Given the description of an element on the screen output the (x, y) to click on. 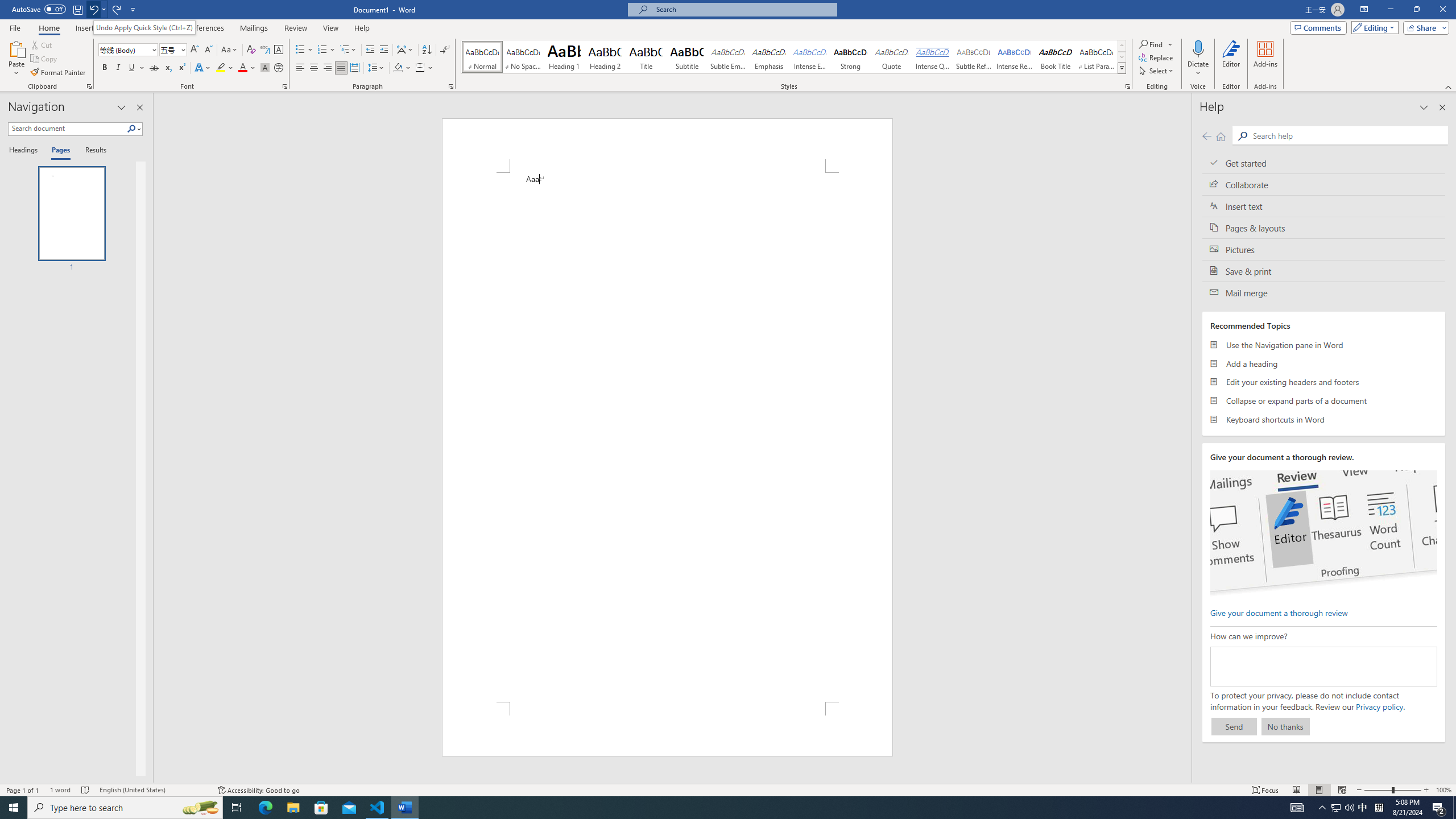
Mail merge (1323, 292)
Insert text (1323, 206)
Privacy policy (1379, 706)
